Given the description of an element on the screen output the (x, y) to click on. 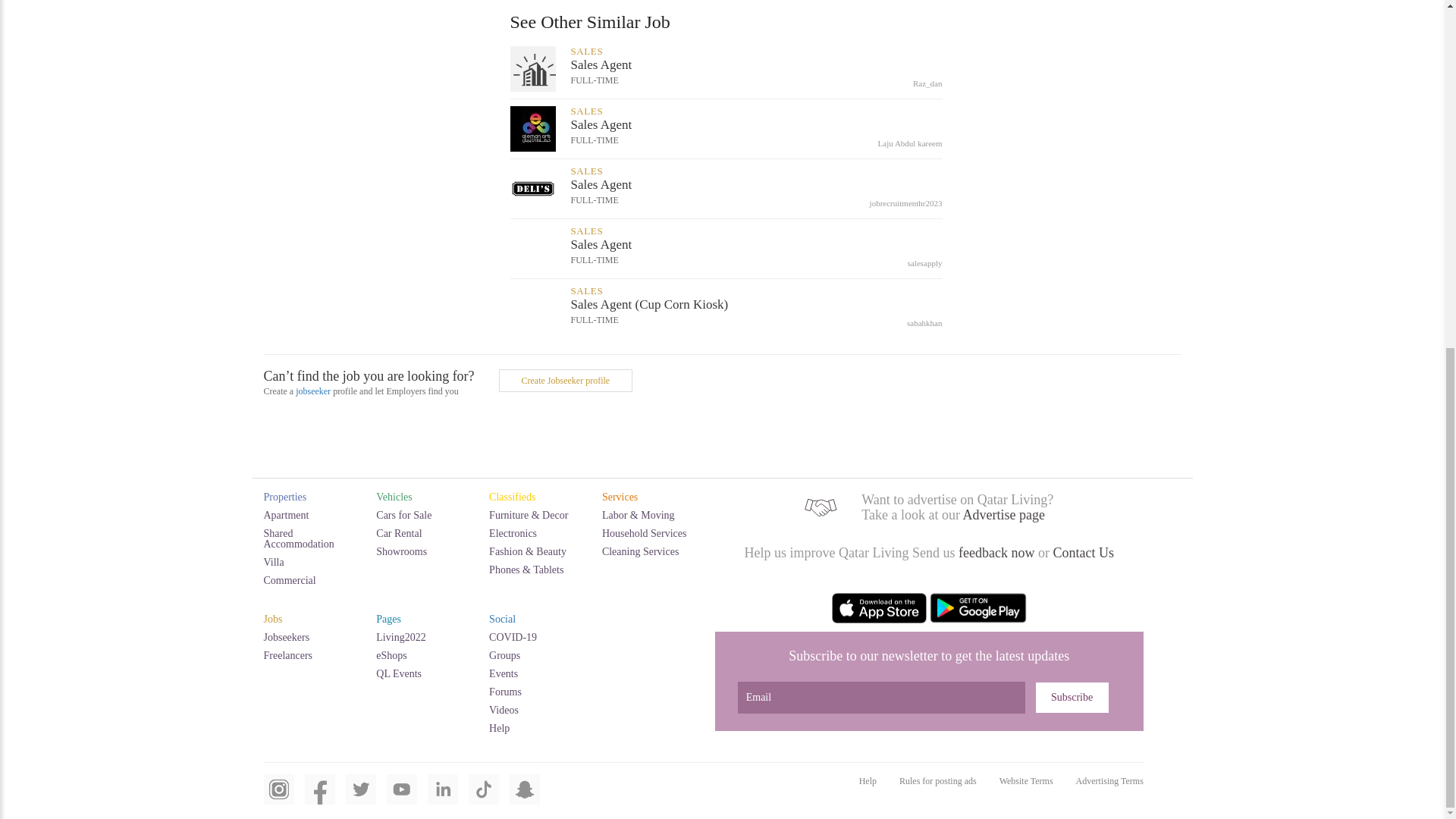
SNAPCHAT (524, 797)
TWITTER (360, 797)
TIKTOK (483, 797)
LINKEDIN (443, 797)
FACEBOOK (319, 797)
YOUTUBE (401, 797)
Subscribe (1071, 697)
INSTAGRAM (278, 797)
